Given the description of an element on the screen output the (x, y) to click on. 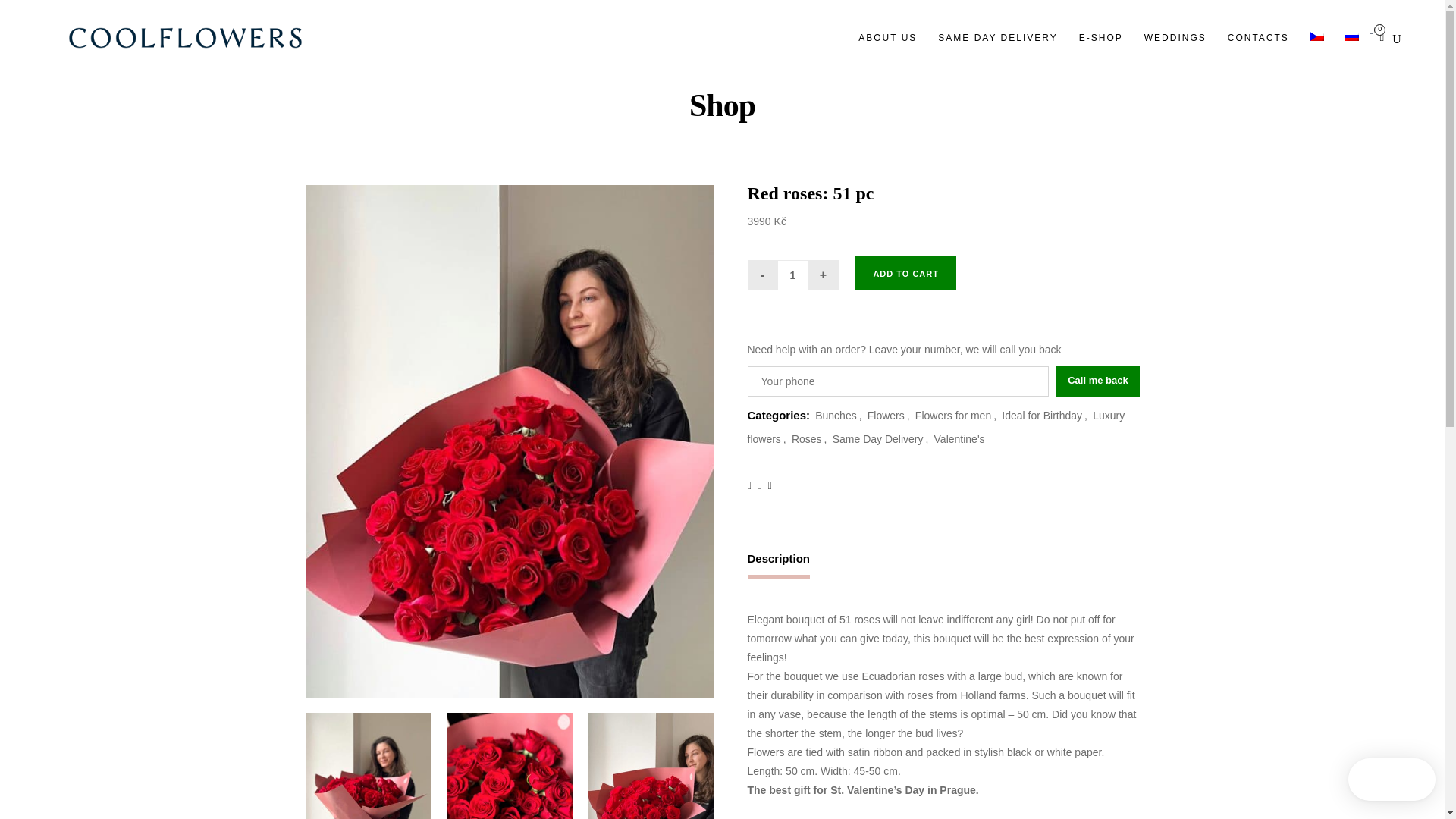
CONTACTS (1258, 38)
1 (792, 275)
C7EA3A5C-3746-4C1C-B9E3-1FFE4E897539 (367, 765)
Smartsupp widget button (1391, 779)
283439C8-2CB9-4CCC-8630-0FAA79F6F644 (509, 765)
- (762, 275)
BA0BE780-171A-4911-99B0-2B7F35C64B2A (650, 765)
ABOUT US (887, 38)
WEDDINGS (1175, 38)
Import (1407, 0)
SAME DAY DELIVERY (997, 38)
Qty (792, 275)
